Given the description of an element on the screen output the (x, y) to click on. 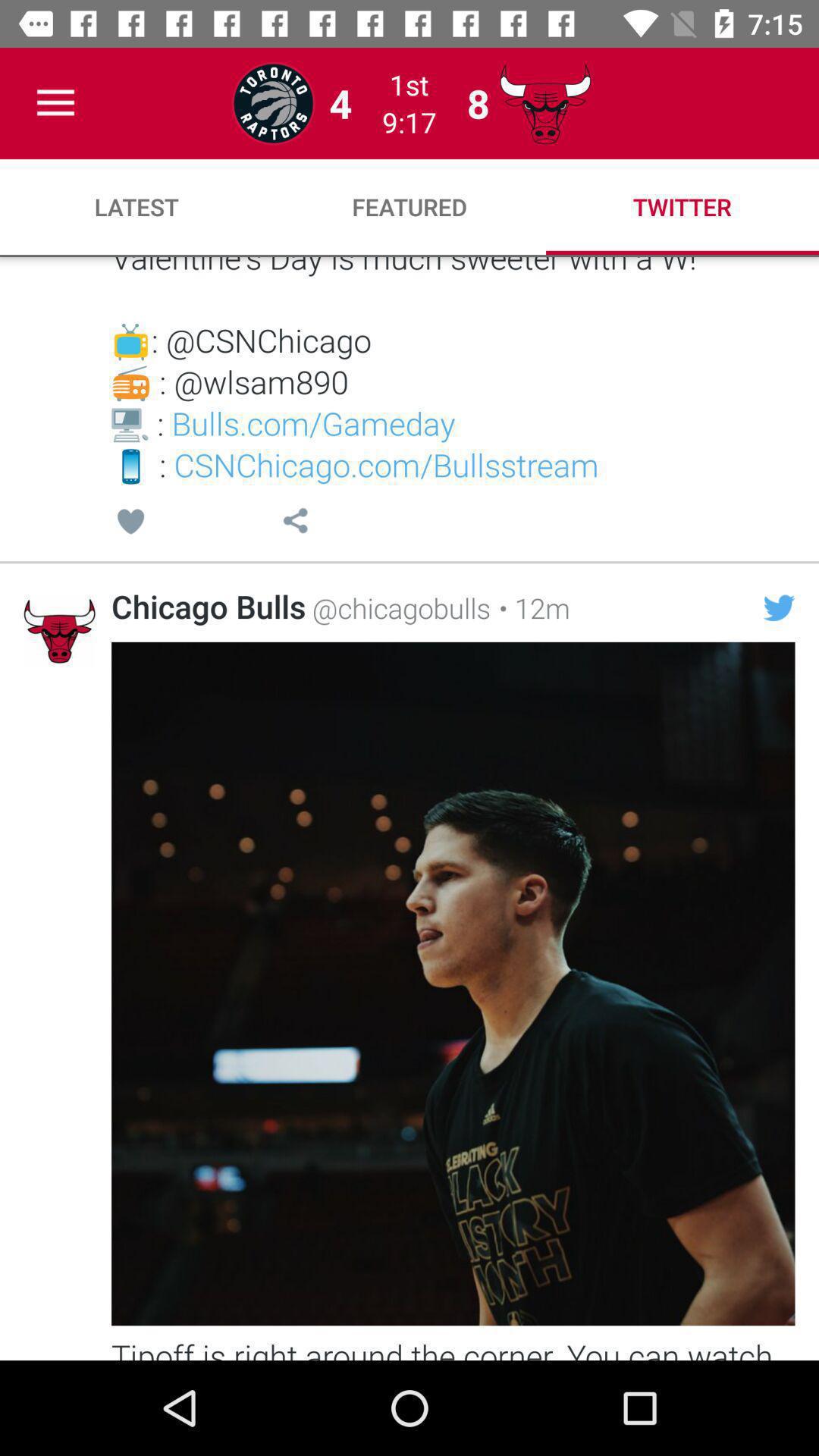
select the icon below valentine s day item (295, 523)
